Given the description of an element on the screen output the (x, y) to click on. 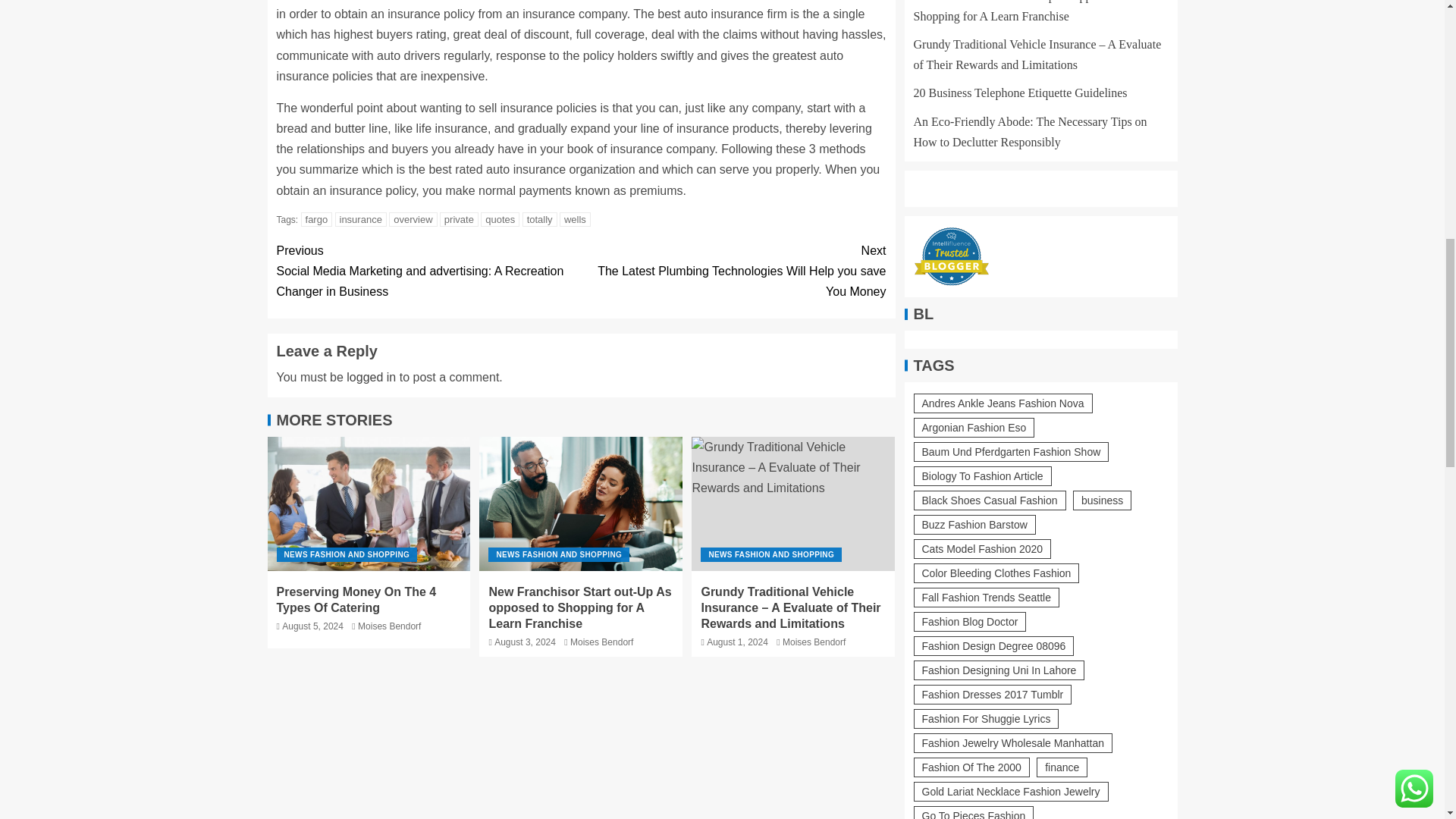
Preserving Money On The 4 Types Of Catering (355, 599)
quotes (499, 219)
NEWS FASHION AND SHOPPING (346, 554)
wells (575, 219)
insurance (360, 219)
overview (412, 219)
Preserving Money On The 4 Types Of Catering (368, 503)
fargo (317, 219)
